Given the description of an element on the screen output the (x, y) to click on. 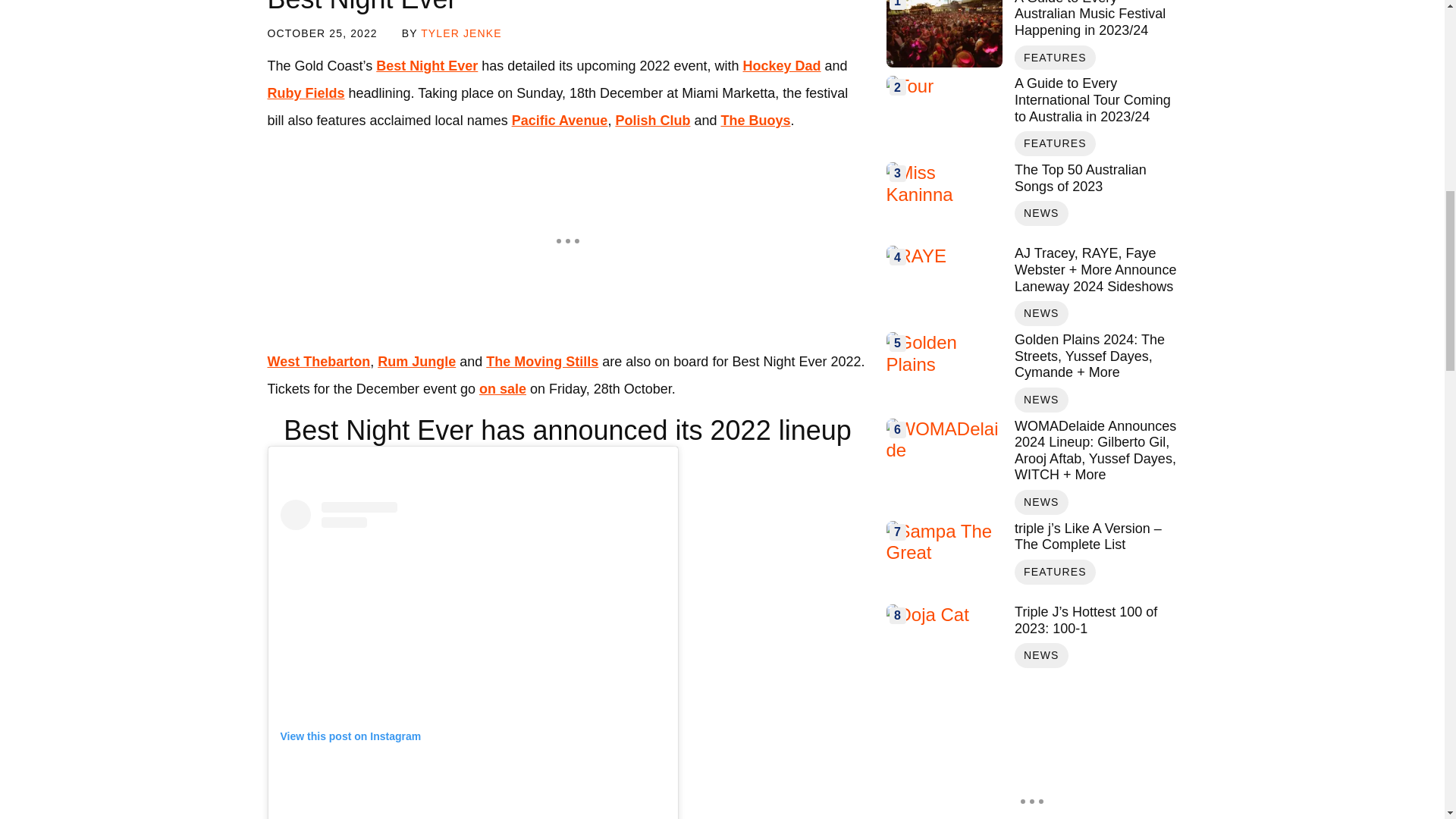
Pacific Avenue (560, 120)
West Thebarton (317, 361)
on sale (502, 388)
Best Night Ever (426, 65)
Ruby Fields (304, 92)
TYLER JENKE (460, 33)
The Top 50 Australian Songs of 2023 (1095, 178)
Hockey Dad (781, 65)
Rum Jungle (416, 361)
The Buoys (755, 120)
